Given the description of an element on the screen output the (x, y) to click on. 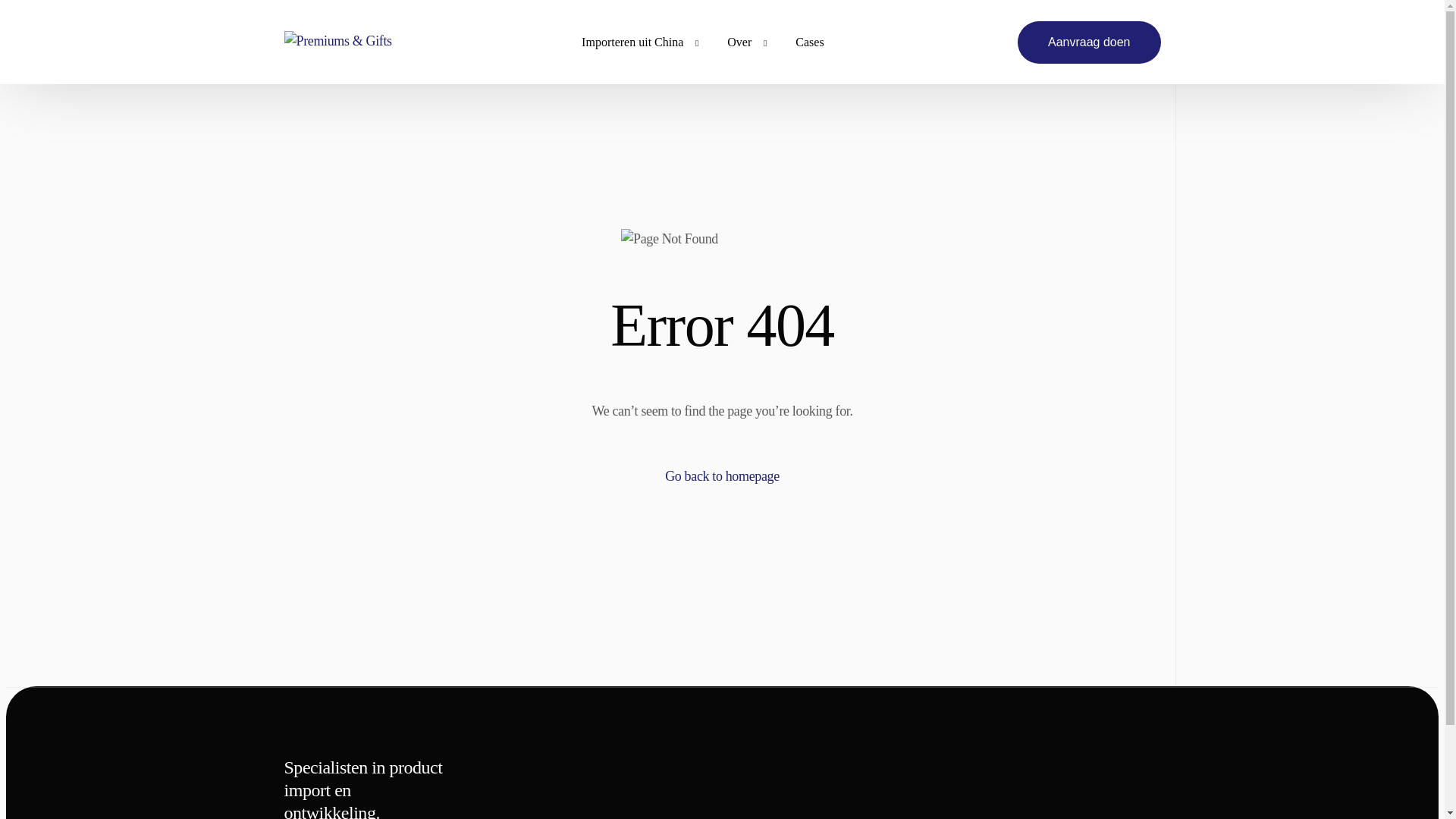
Go back to homepage (721, 476)
Aanvraag doen (1088, 42)
Importeren uit China (636, 42)
